Given the description of an element on the screen output the (x, y) to click on. 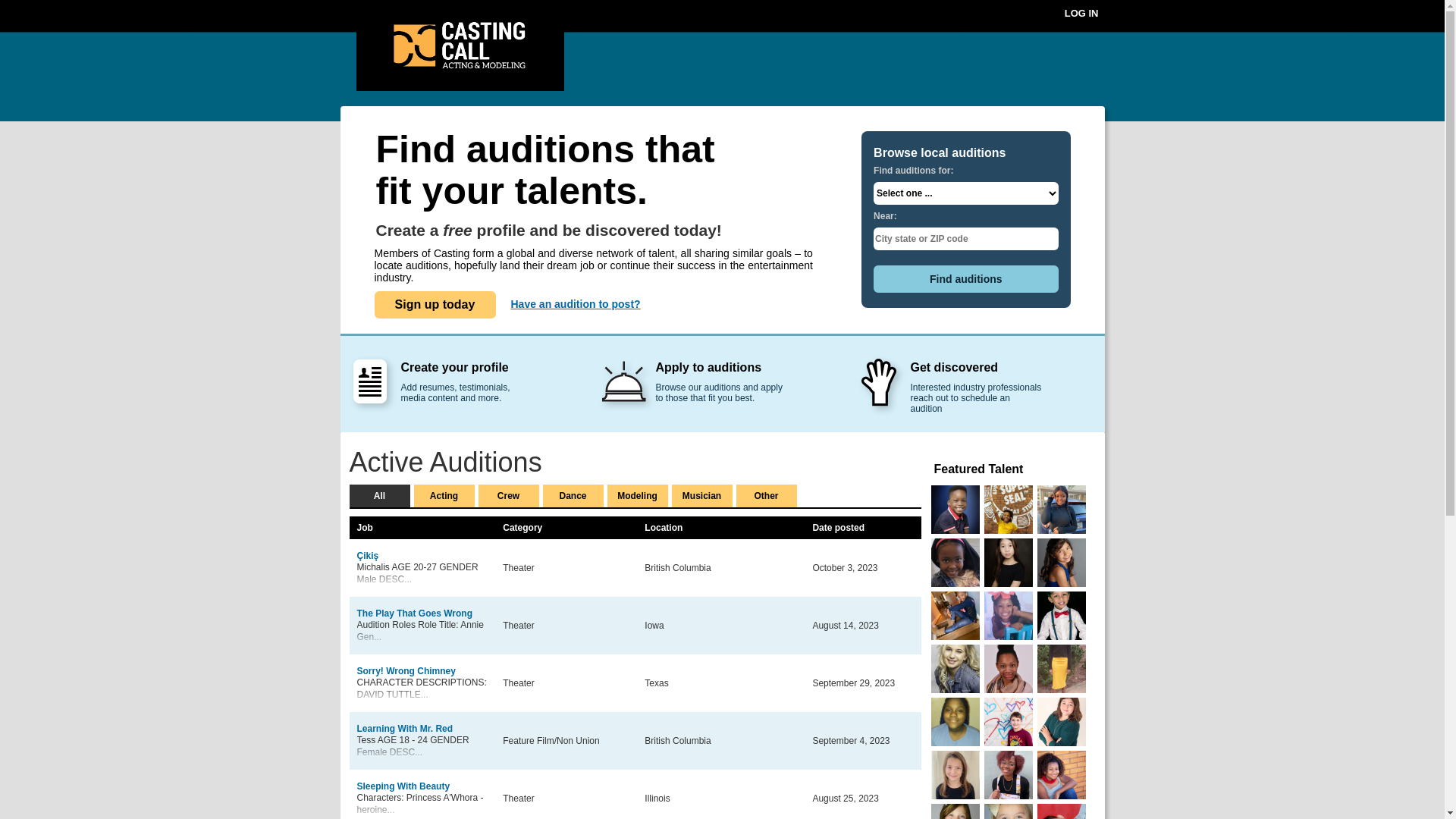
The Play That Goes Wrong Element type: text (413, 613)
Find auditions Element type: text (965, 278)
Have an audition to post? Element type: text (575, 304)
LOG IN Element type: text (1081, 16)
Acting Element type: text (444, 495)
All Element type: text (378, 495)
Sorry! Wrong Chimney Element type: text (405, 670)
Sign up today Element type: text (435, 304)
Musician Element type: text (701, 495)
Modeling Element type: text (636, 495)
Learning With Mr. Red Element type: text (404, 728)
Crew Element type: text (507, 495)
Dance Element type: text (572, 495)
Other Element type: text (765, 495)
Sleeping With Beauty Element type: text (402, 786)
